Given the description of an element on the screen output the (x, y) to click on. 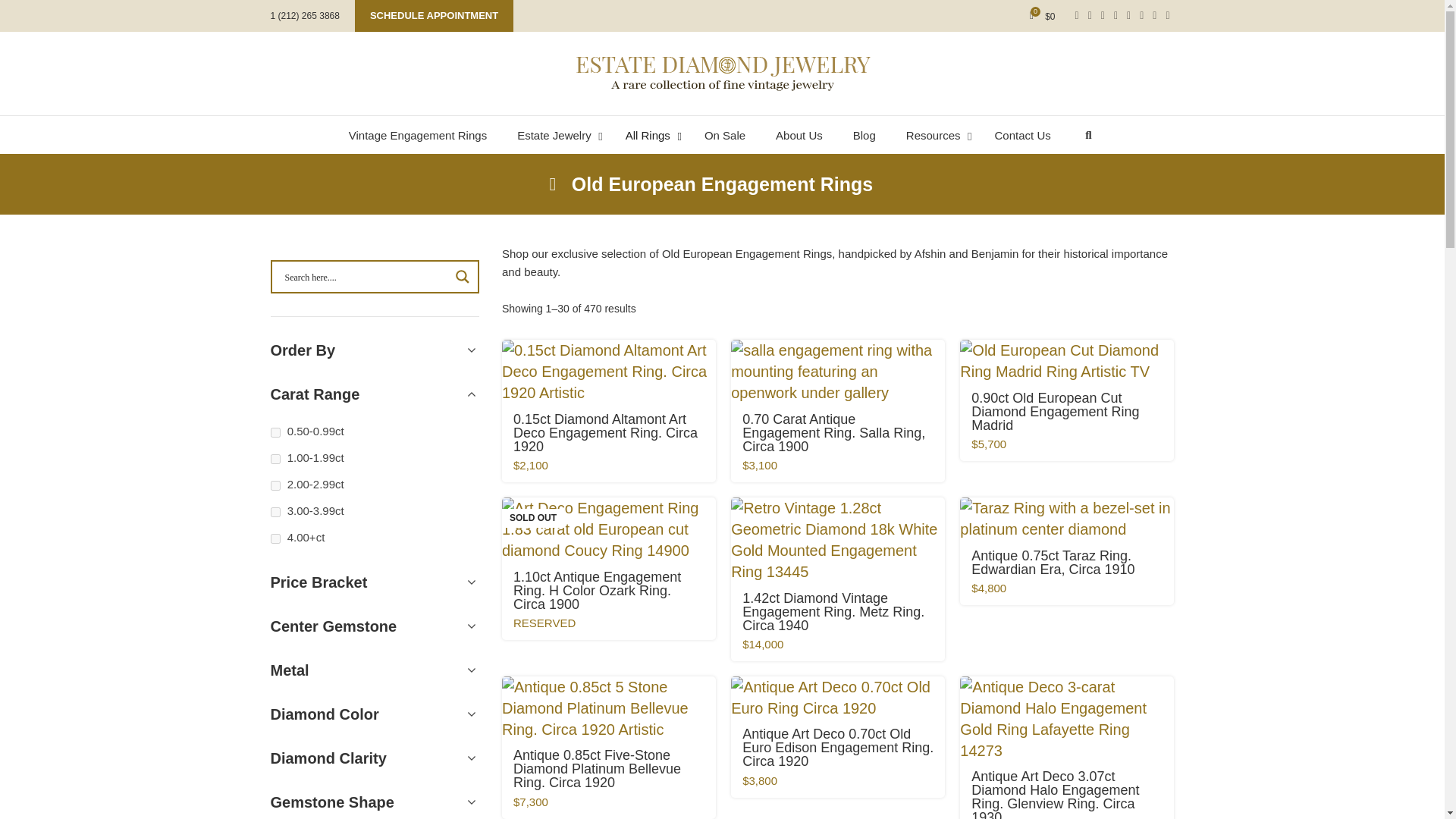
All Rings (649, 135)
SCHEDULE APPOINTMENT (434, 15)
0-99 (274, 432)
Shopping cart (1042, 15)
2-99 (274, 485)
3-99 (274, 511)
Estate Jewelry (556, 135)
Vintage Engagement Rings (417, 135)
1-99 (274, 459)
4-99 (274, 538)
